Given the description of an element on the screen output the (x, y) to click on. 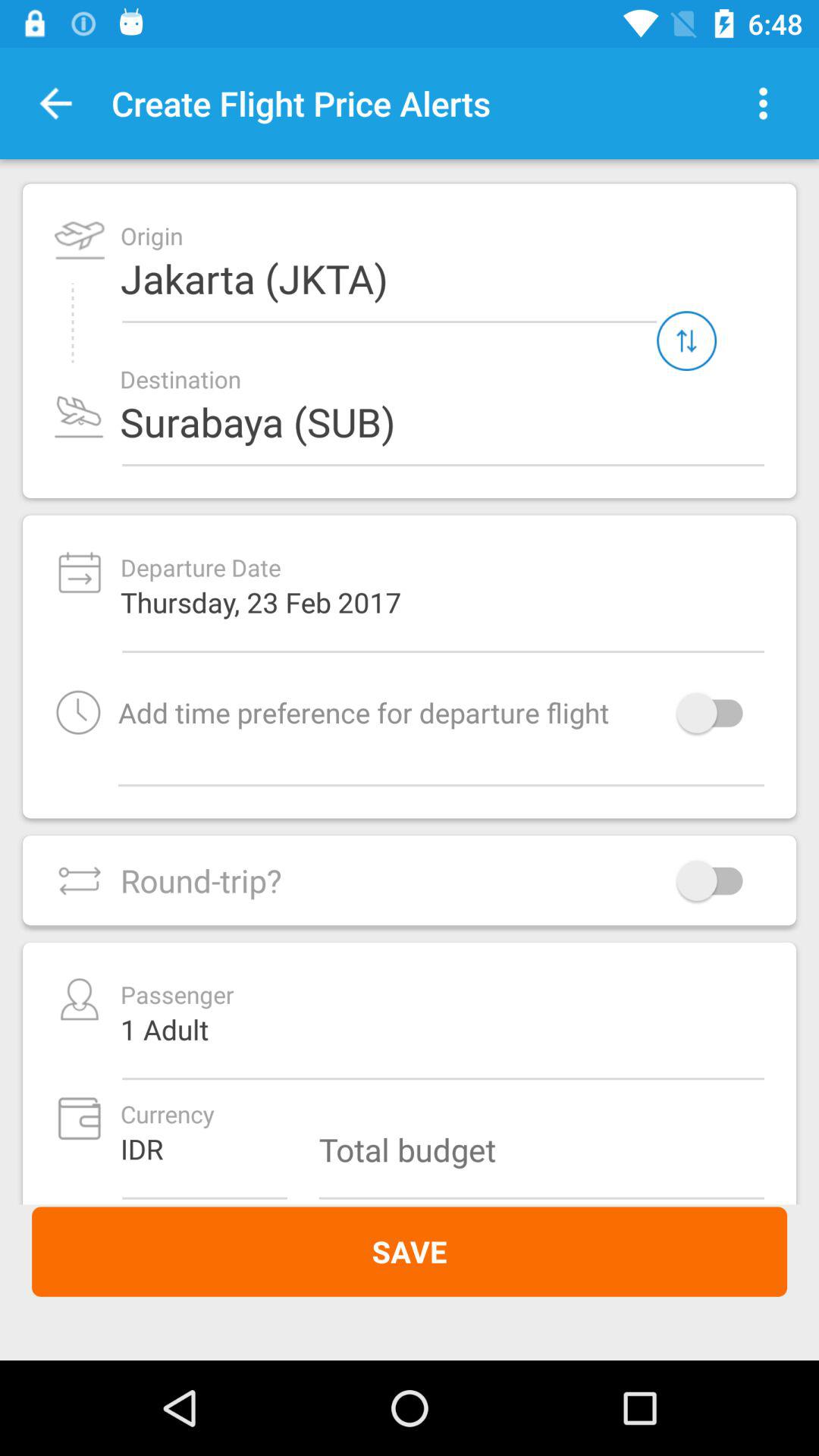
turn on (716, 712)
